Given the description of an element on the screen output the (x, y) to click on. 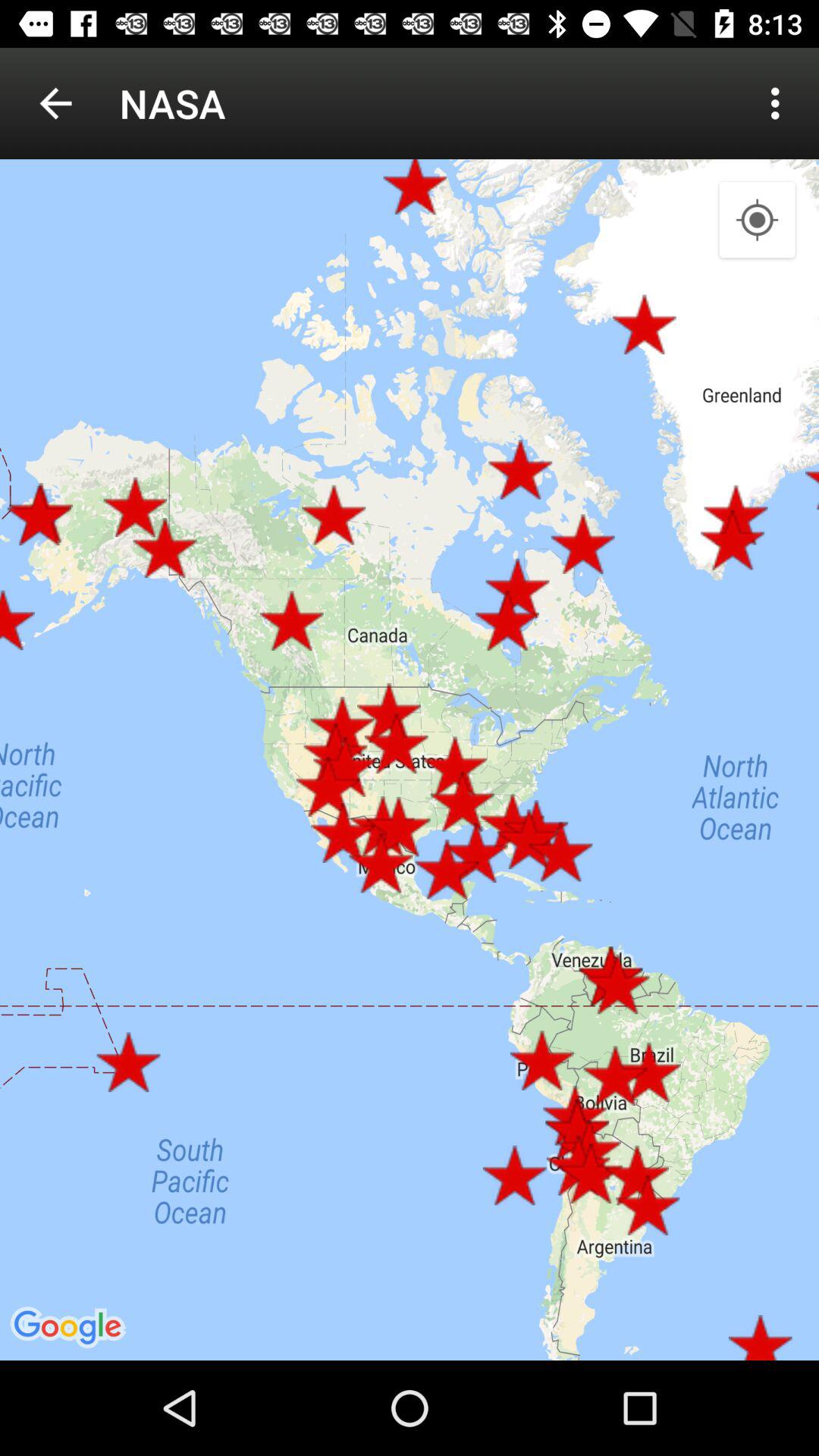
click icon next to the nasa item (55, 103)
